Given the description of an element on the screen output the (x, y) to click on. 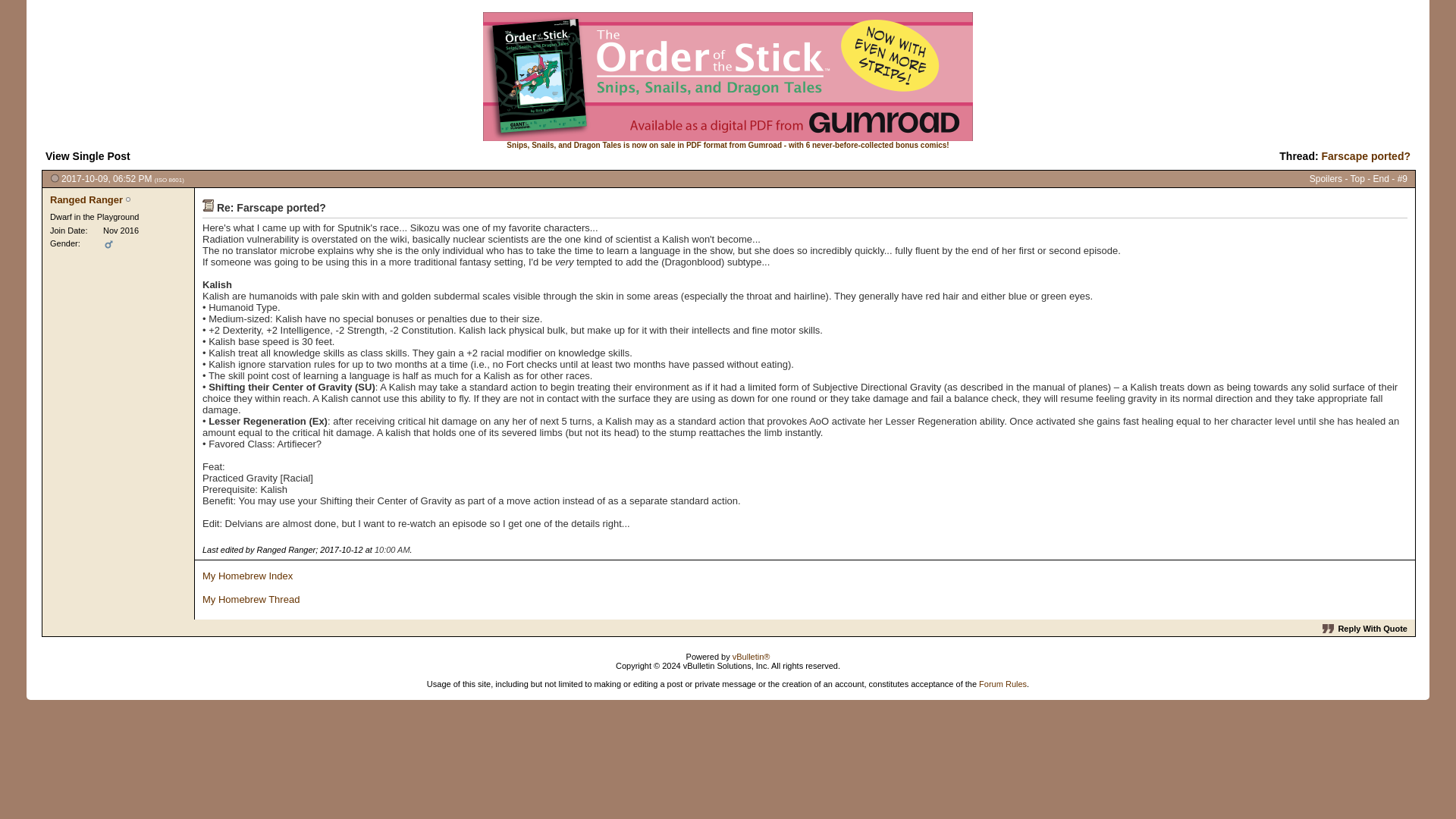
Spoilers (1325, 178)
Ranged Ranger (85, 199)
Forum Rules (1002, 683)
My Homebrew Index (247, 575)
My Homebrew Thread (250, 599)
Ranged Ranger is offline (85, 199)
End (1381, 178)
Top (1358, 178)
